Given the description of an element on the screen output the (x, y) to click on. 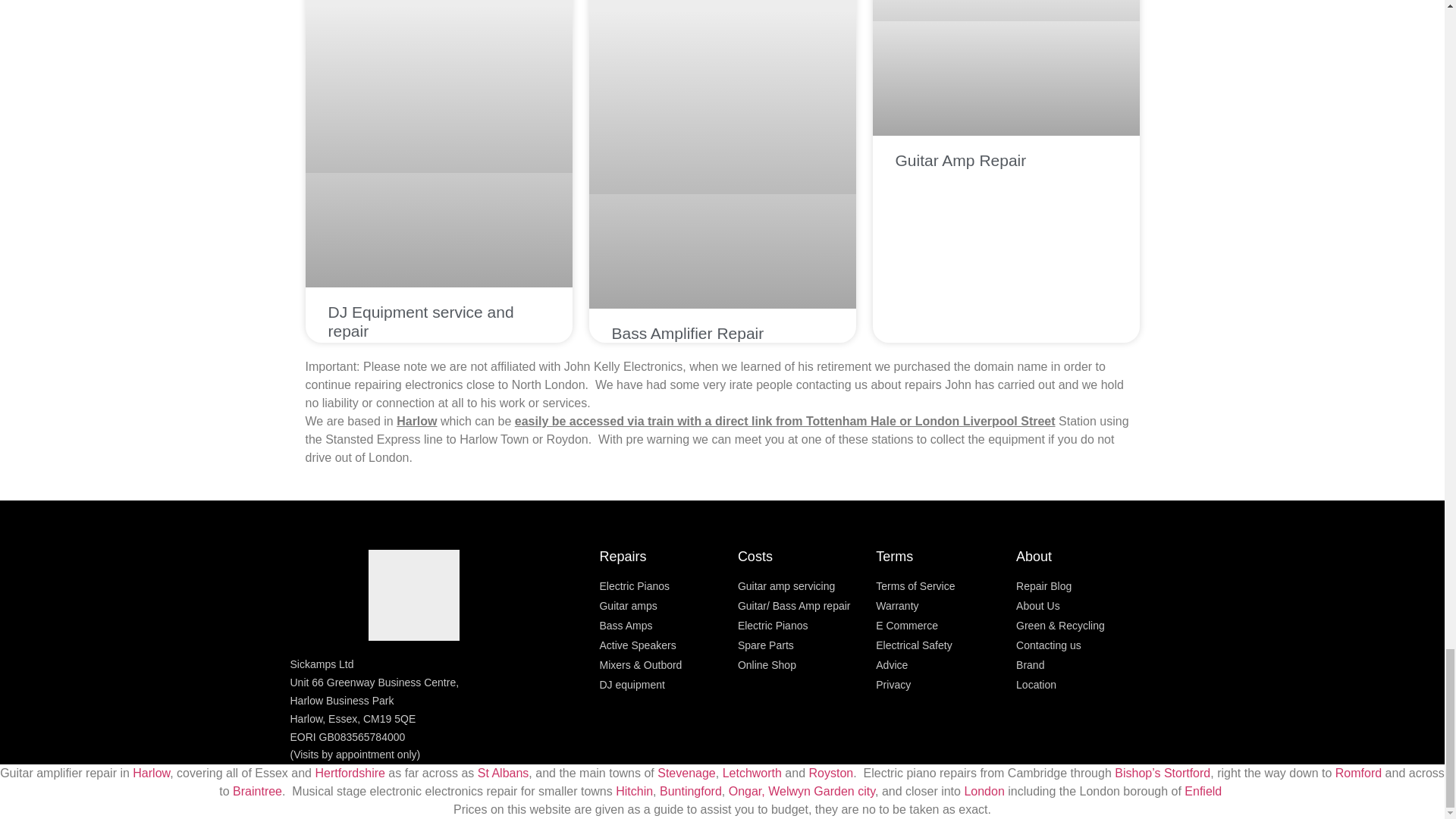
London 5 (438, 86)
London 6 (722, 97)
London 7 (1006, 10)
